Given the description of an element on the screen output the (x, y) to click on. 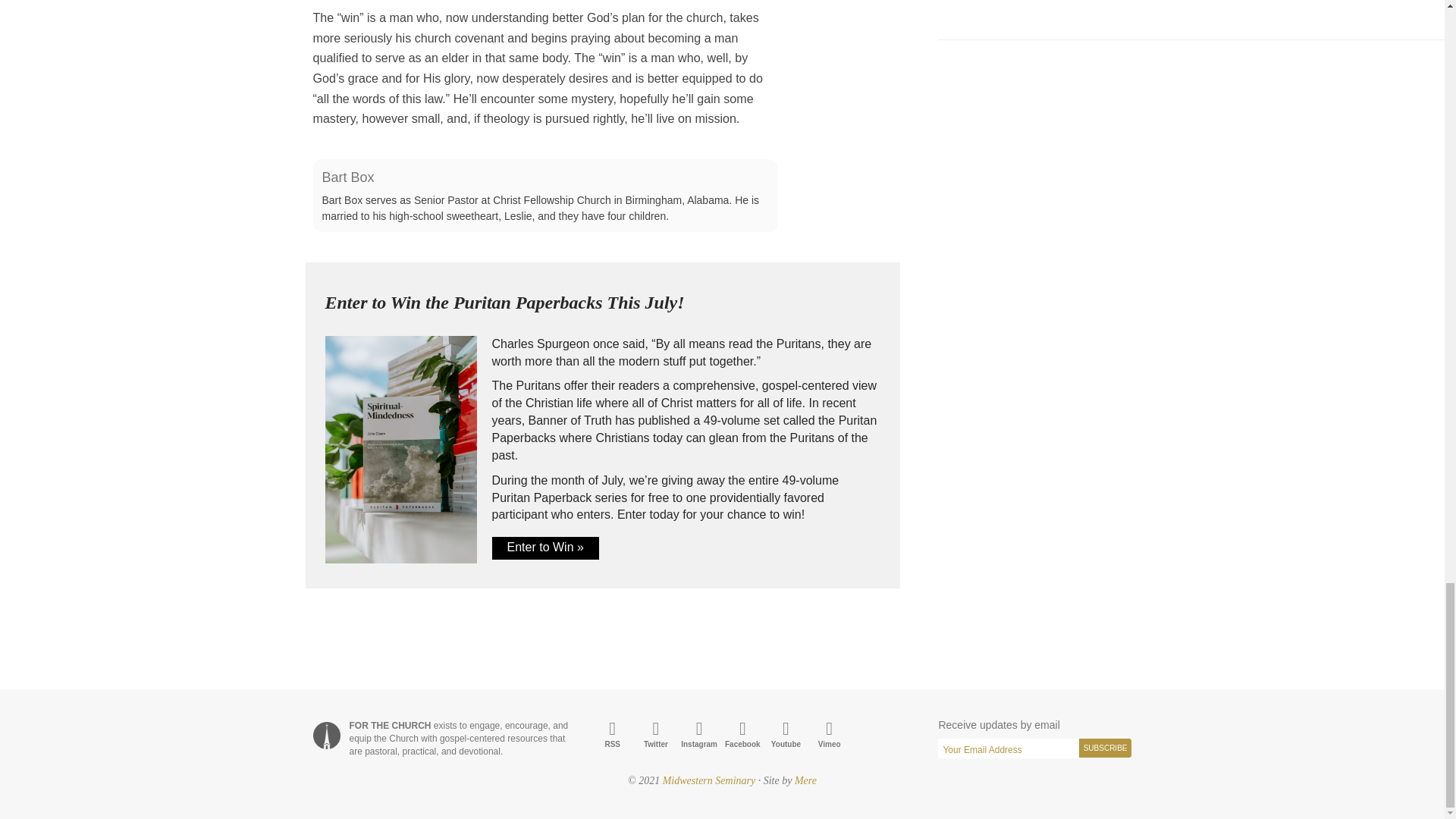
Subscribe (1105, 747)
Bart Box (347, 177)
